Given the description of an element on the screen output the (x, y) to click on. 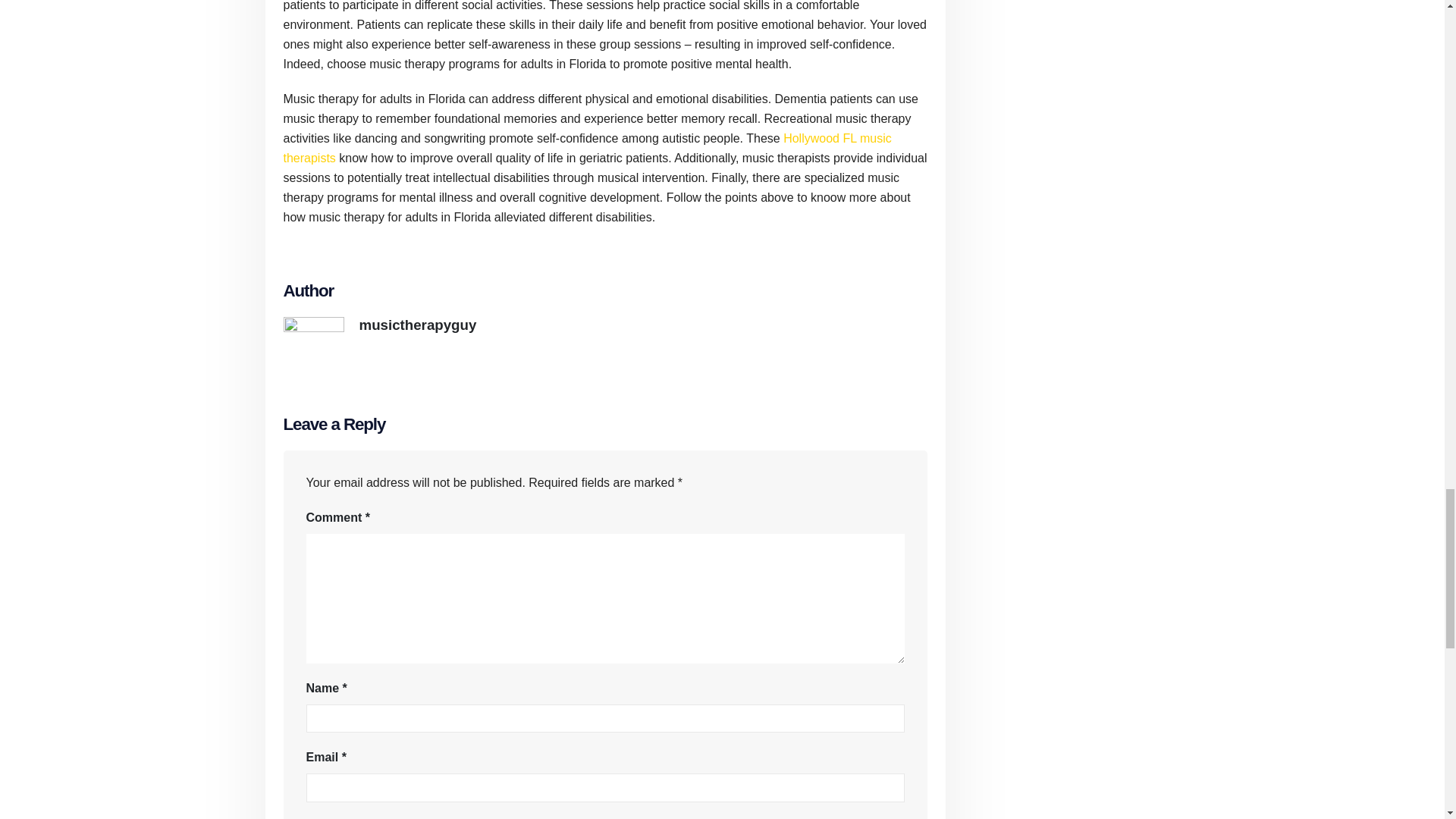
Hollywood FL music therapists (587, 147)
Posts by musictherapyguy (418, 324)
musictherapyguy (418, 324)
